Given the description of an element on the screen output the (x, y) to click on. 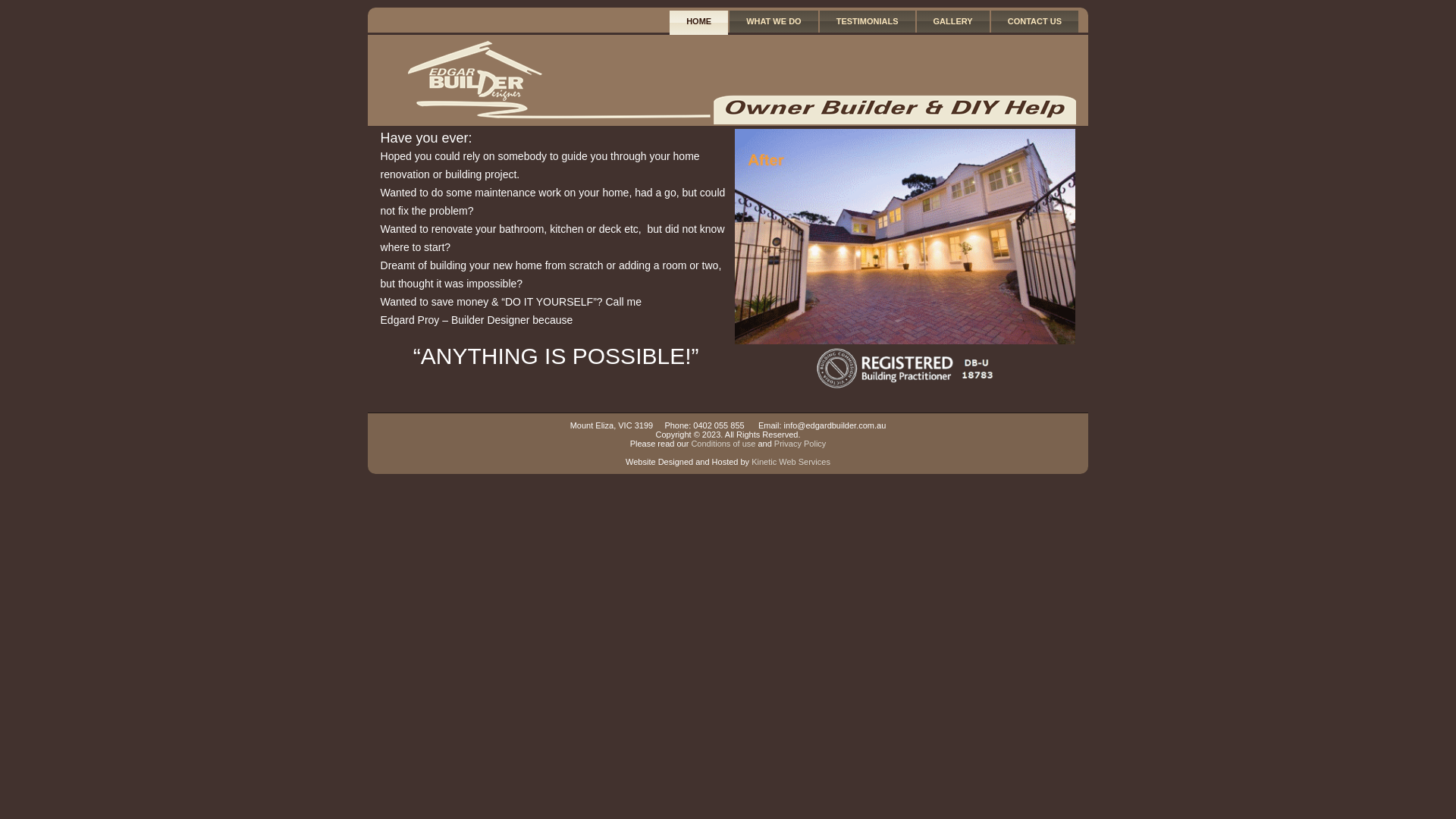
Before & After Element type: hover (905, 236)
HOME Element type: text (698, 22)
GALLERY Element type: text (952, 21)
CONTACT US Element type: text (1034, 21)
WHAT WE DO Element type: text (773, 21)
Click here for the Building Commission website Element type: hover (905, 369)
Conditions of use Element type: text (722, 443)
Privacy Policy Element type: text (799, 443)
TESTIMONIALS Element type: text (867, 21)
Kinetic Web Services Element type: text (790, 461)
